Given the description of an element on the screen output the (x, y) to click on. 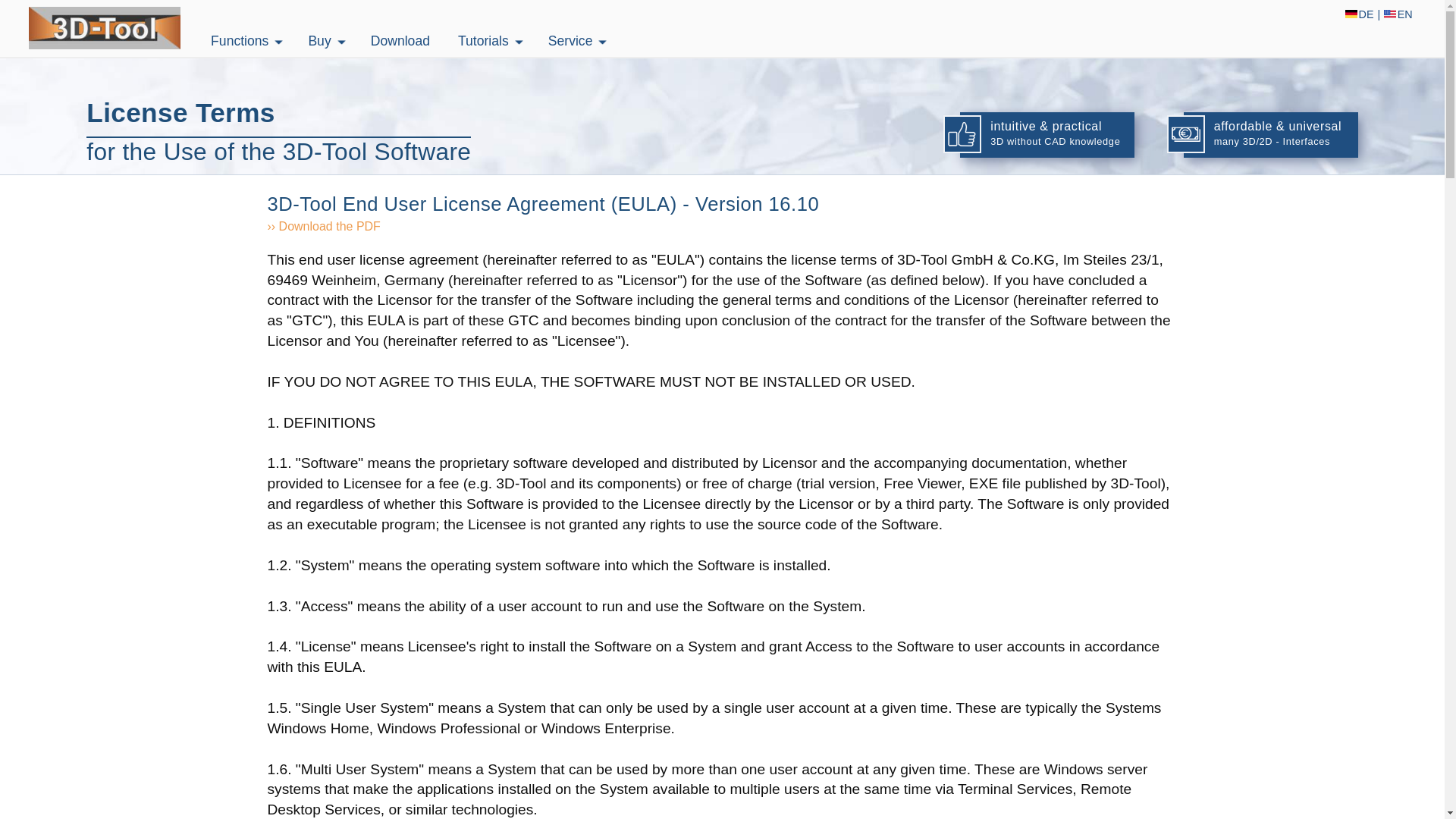
Service Element type: text (567, 40)
Tutorials Element type: text (480, 40)
Functions Element type: text (236, 40)
DE Element type: text (1359, 13)
Download Element type: text (388, 40)
EN Element type: text (1397, 13)
Buy Element type: text (316, 40)
